Given the description of an element on the screen output the (x, y) to click on. 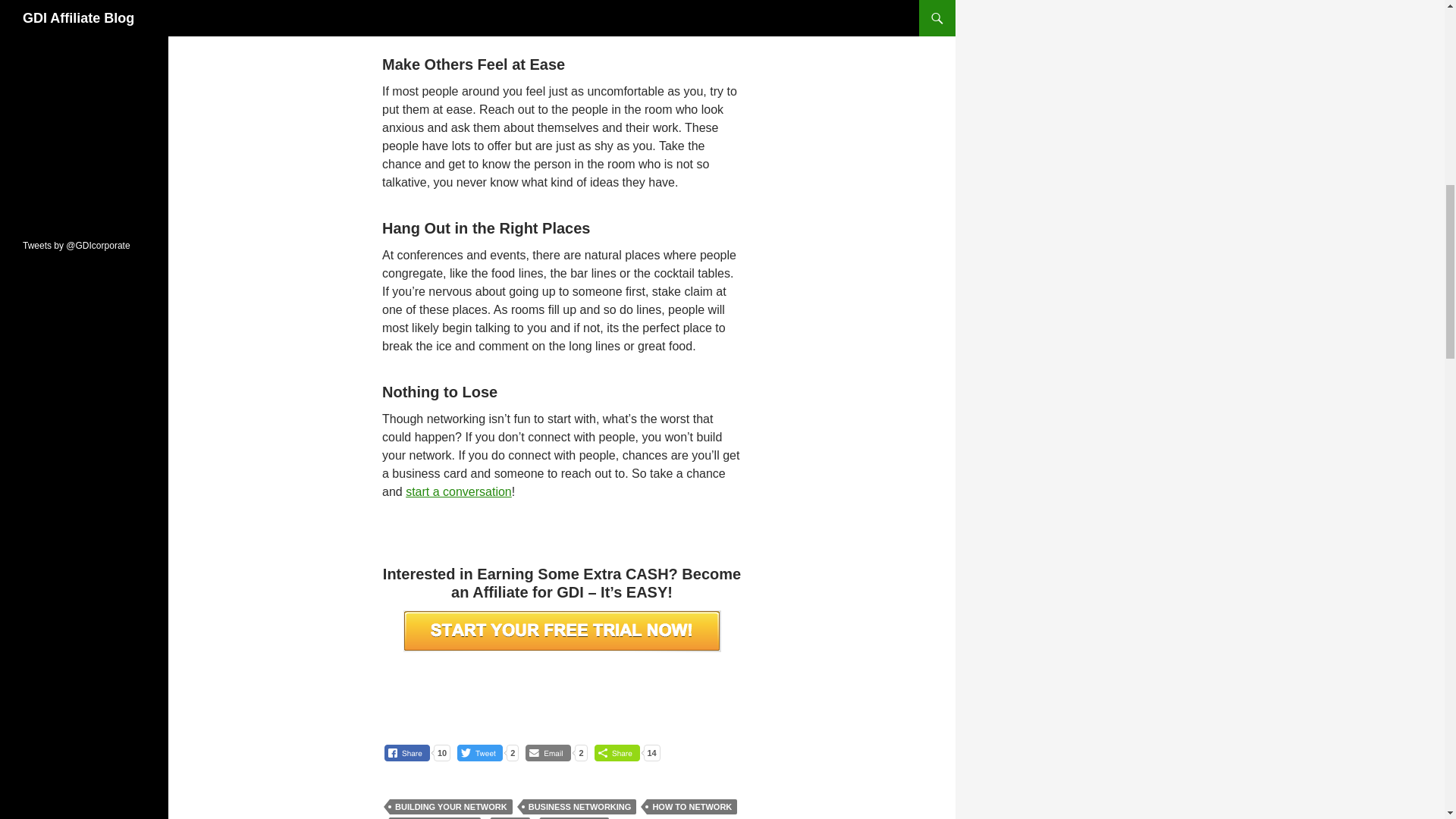
start a conversation (459, 491)
LEAD GENERATION (435, 818)
HOW TO NETWORK (691, 806)
BUILDING YOUR NETWORK (451, 806)
NETWORKING (574, 818)
LEADS (510, 818)
BUSINESS NETWORKING (579, 806)
